Given the description of an element on the screen output the (x, y) to click on. 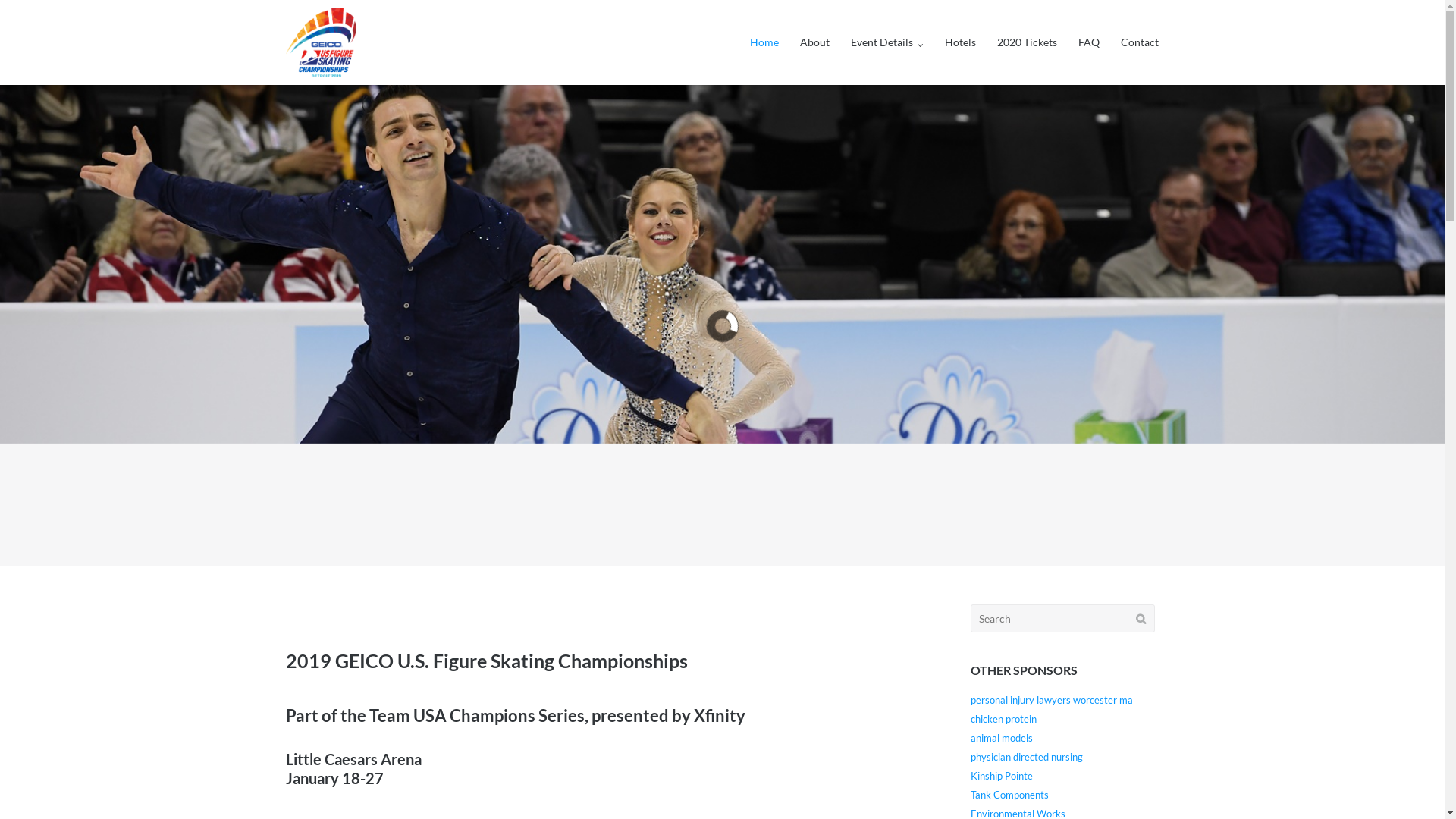
2020 Tickets Element type: text (1027, 42)
animal models Element type: text (1001, 737)
Tank Components Element type: text (1009, 794)
Event Details Element type: text (886, 42)
Hotels Element type: text (959, 42)
Search Element type: text (37, 14)
About Element type: text (814, 42)
Kinship Pointe Element type: text (1001, 775)
personal injury lawyers worcester ma Element type: text (1051, 699)
physician directed nursing Element type: text (1026, 756)
Home Element type: text (763, 42)
chicken protein Element type: text (1003, 718)
FAQ Element type: text (1088, 42)
Contact Element type: text (1139, 42)
